Given the description of an element on the screen output the (x, y) to click on. 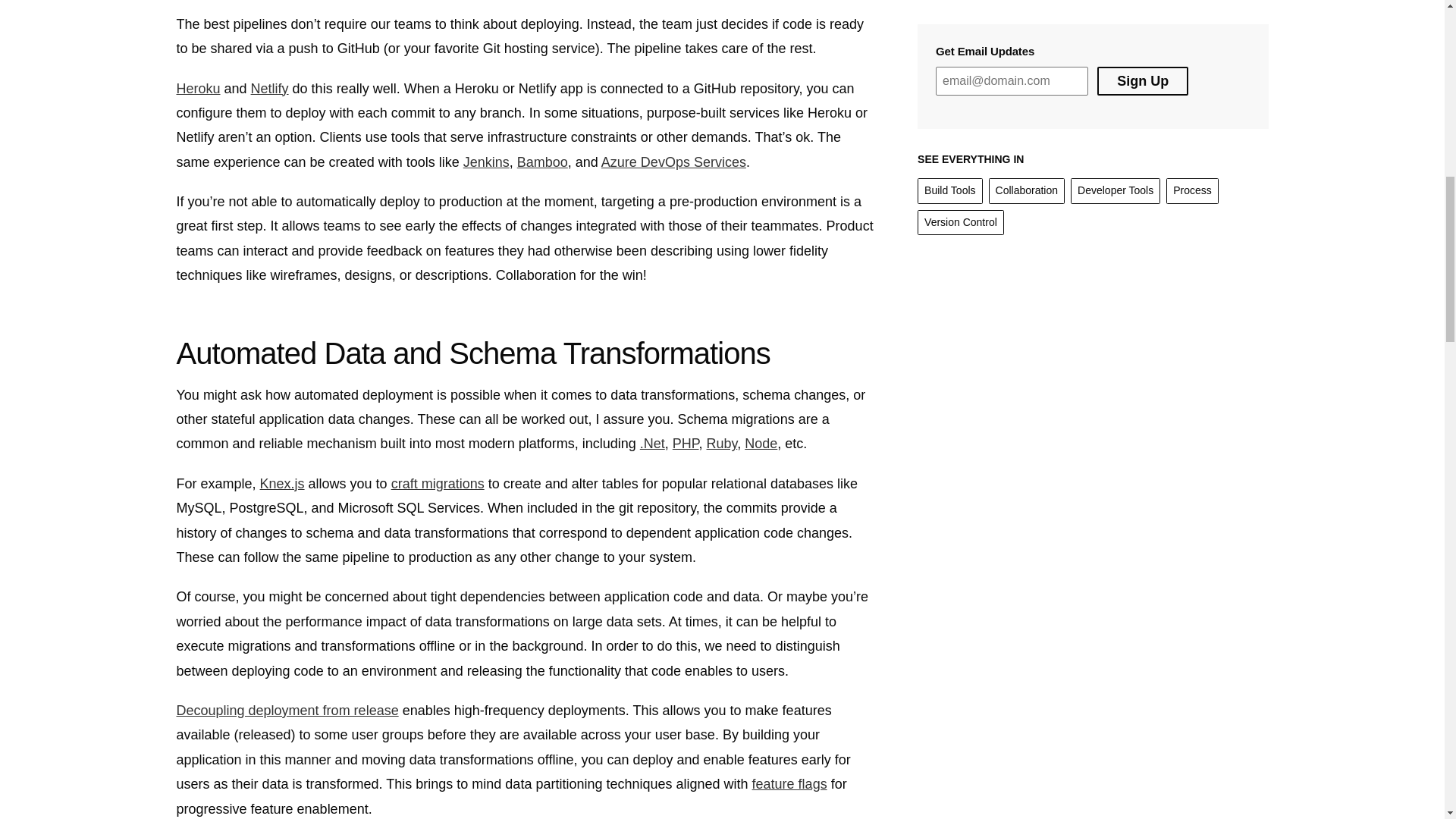
Knex.js (282, 483)
Jenkins (486, 161)
Heroku (197, 88)
Azure DevOps Services (673, 161)
Netlify (269, 88)
Ruby (722, 443)
PHP (685, 443)
.Net (652, 443)
Node (760, 443)
feature flags (789, 783)
